Given the description of an element on the screen output the (x, y) to click on. 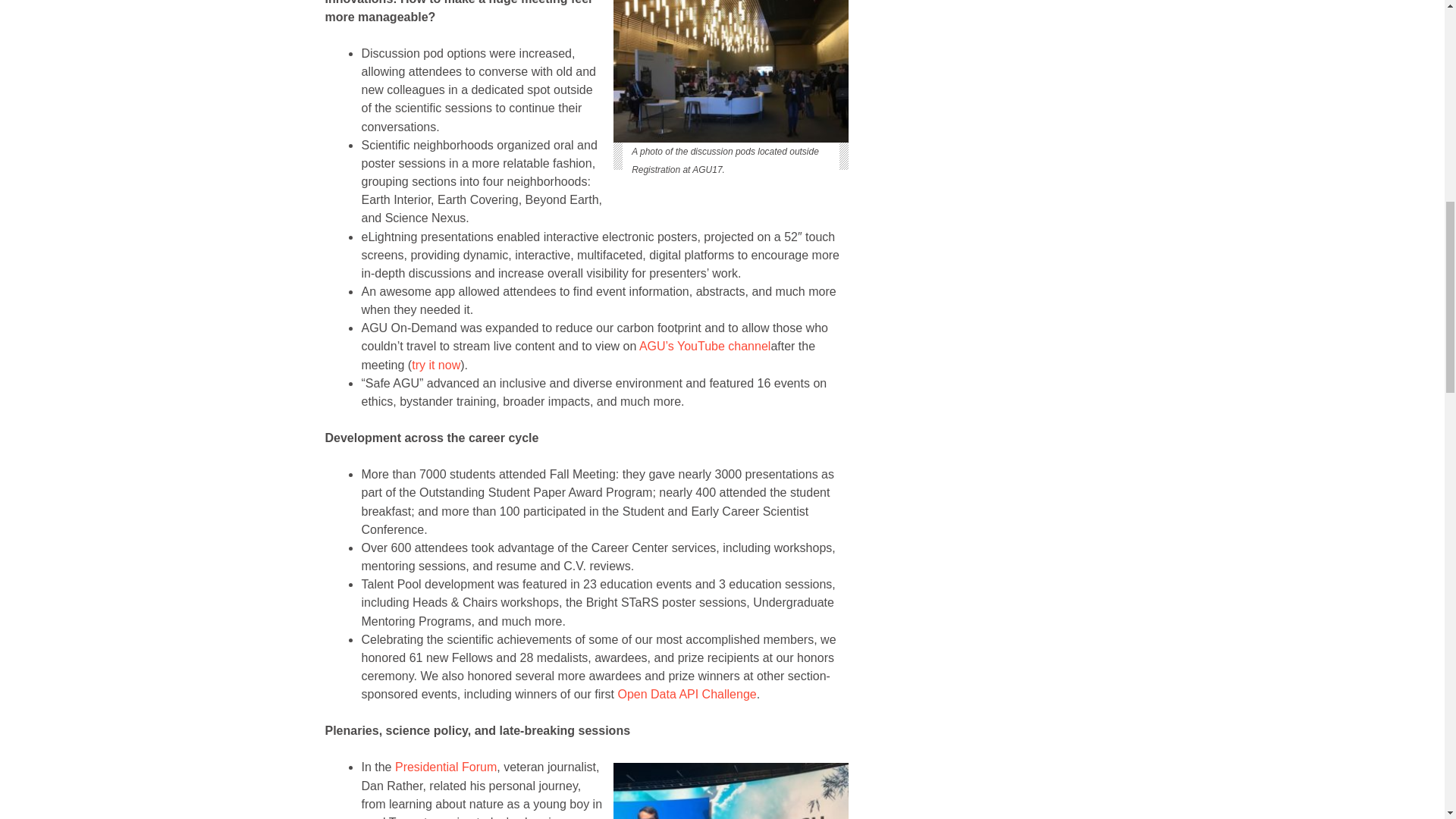
Open Data API Challenge (686, 694)
Presidential Forum (445, 766)
try it now (436, 364)
